Given the description of an element on the screen output the (x, y) to click on. 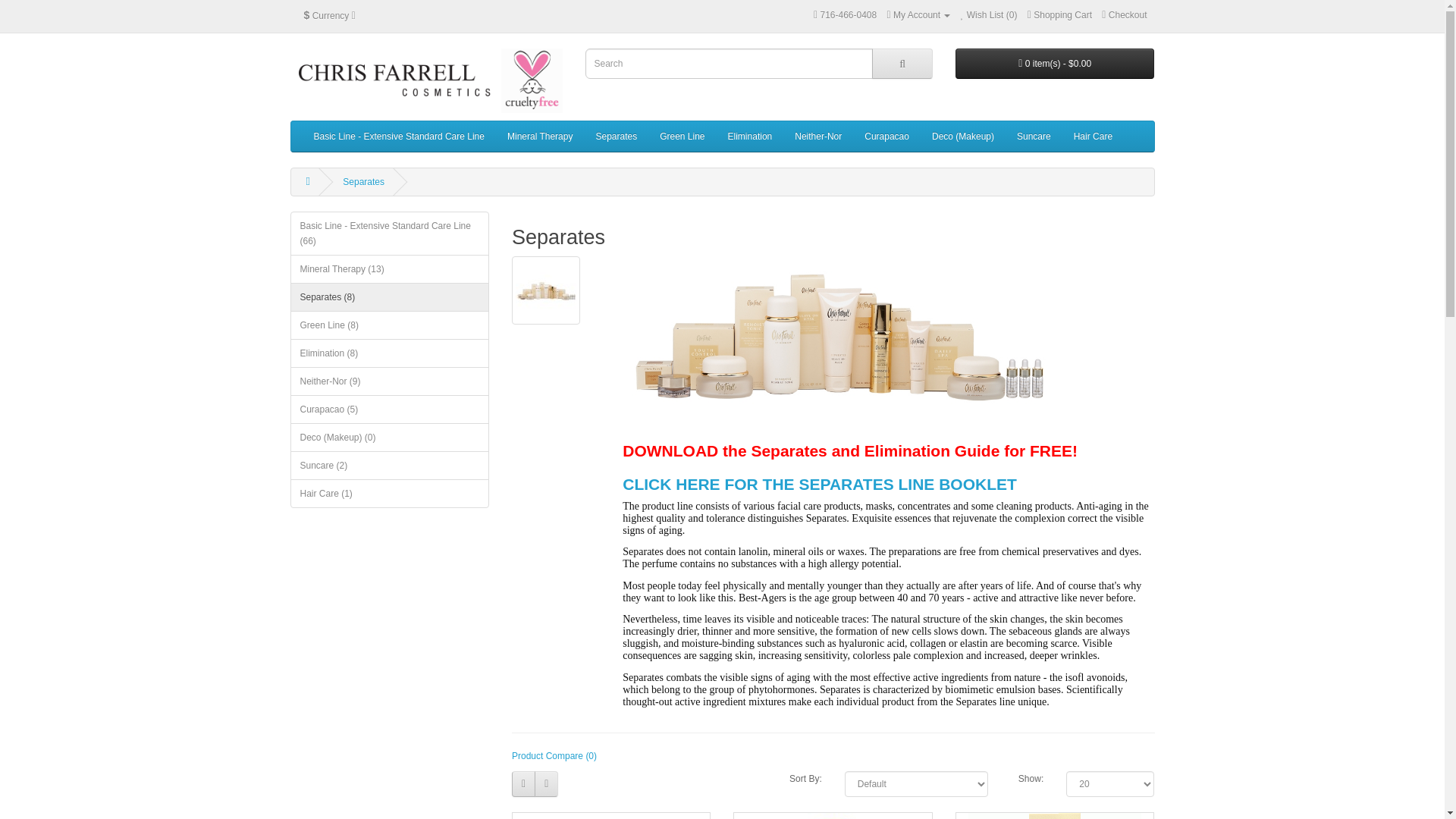
Curapacao (886, 136)
Checkout (1124, 14)
Eyelid Firmer Concentrate 3x4ml Eye Serum (610, 816)
CLICK HERE FOR THE SEPARATES LINE BOOKLET (819, 484)
Suncare (1034, 136)
Mineral Therapy (539, 136)
Green Line (681, 136)
Shopping Cart (1059, 14)
Eyelid Treatment 15ml Eye Cream (1054, 816)
Separates (545, 290)
Elimination (750, 136)
Checkout (1124, 14)
Shopping Cart (1059, 14)
Separates (363, 181)
Chris Farrell Cosmetics North America (425, 80)
